Given the description of an element on the screen output the (x, y) to click on. 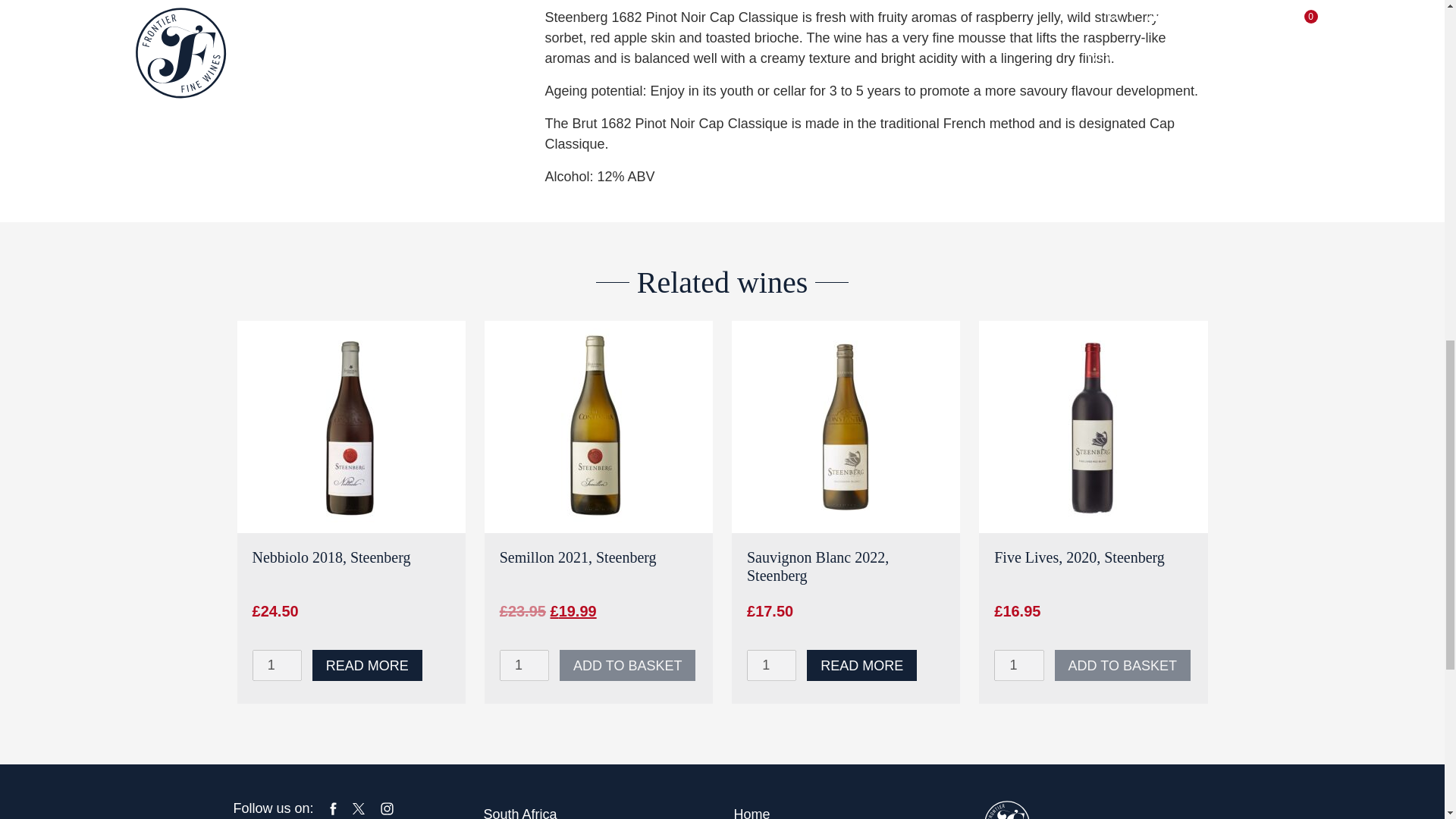
1 (276, 665)
1 (523, 665)
1 (1018, 665)
1 (771, 665)
